Given the description of an element on the screen output the (x, y) to click on. 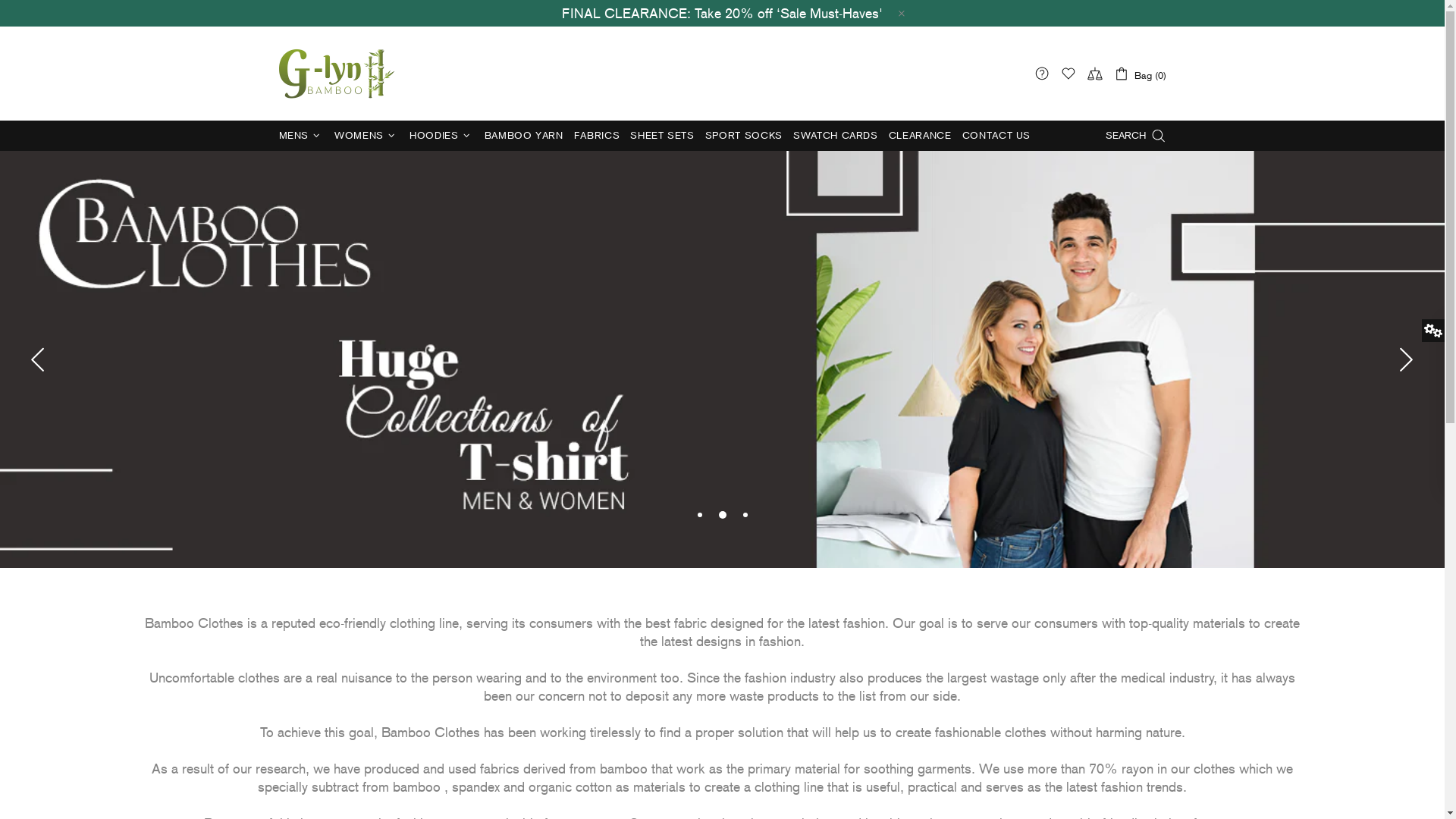
SHEET SETS Element type: text (661, 135)
FABRICS Element type: text (596, 135)
SWATCH CARDS Element type: text (835, 135)
CLEARANCE Element type: text (920, 135)
SPORT SOCKS Element type: text (743, 135)
HOODIES Element type: text (441, 135)
MENS Element type: text (301, 135)
Bag (0) Element type: text (1139, 72)
SEARCH Element type: text (1135, 135)
CONTACT US Element type: text (996, 135)
bambooclothes.ca Element type: text (337, 73)
WOMENS Element type: text (366, 135)
BAMBOO YARN Element type: text (523, 135)
